Given the description of an element on the screen output the (x, y) to click on. 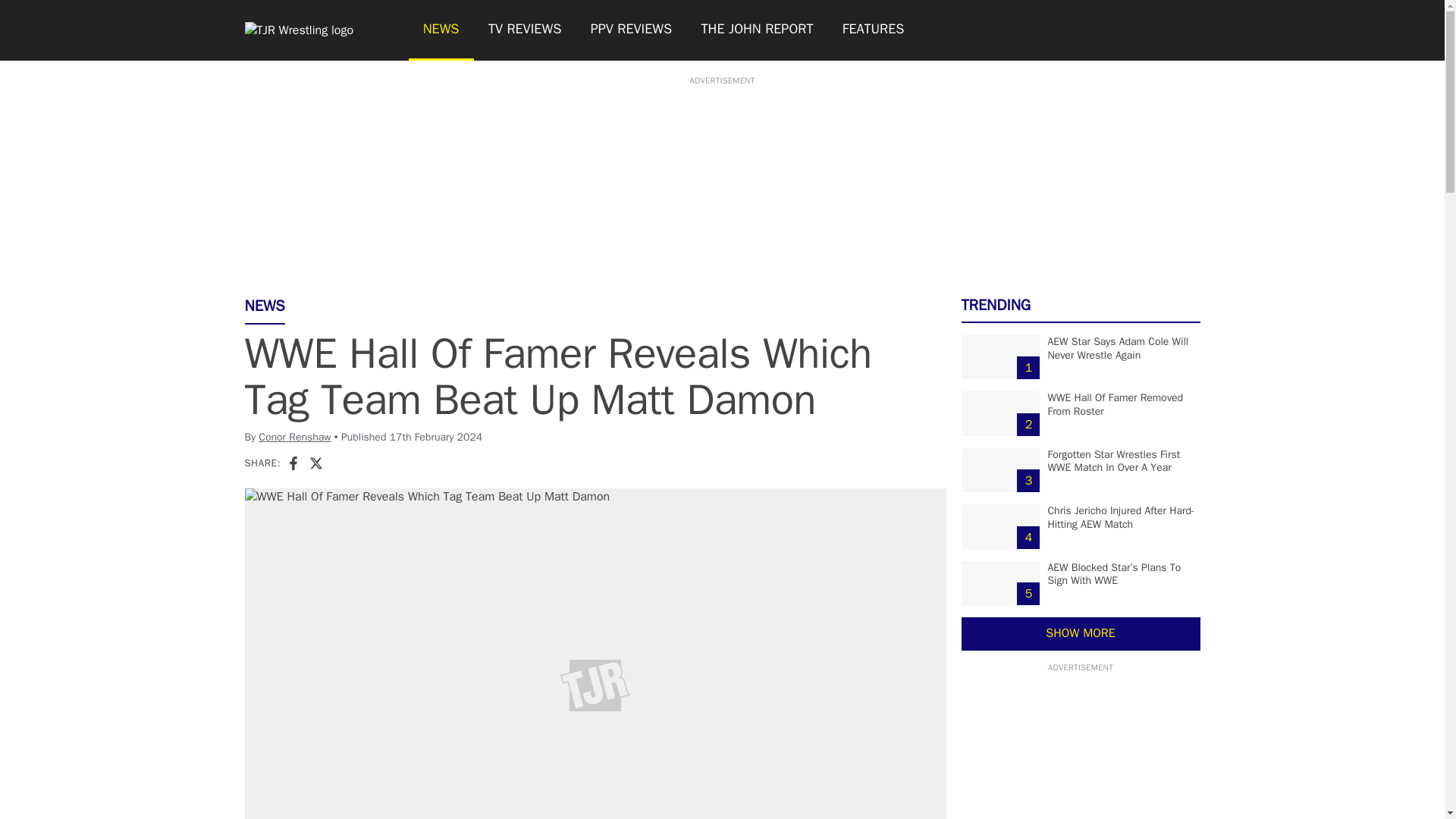
PPV REVIEWS (631, 30)
FEATURES (873, 30)
X (315, 463)
Facebook (292, 463)
X (315, 462)
Conor Renshaw (294, 436)
TV REVIEWS (525, 30)
NEWS (440, 30)
Facebook (292, 462)
THE JOHN REPORT (756, 30)
